Given the description of an element on the screen output the (x, y) to click on. 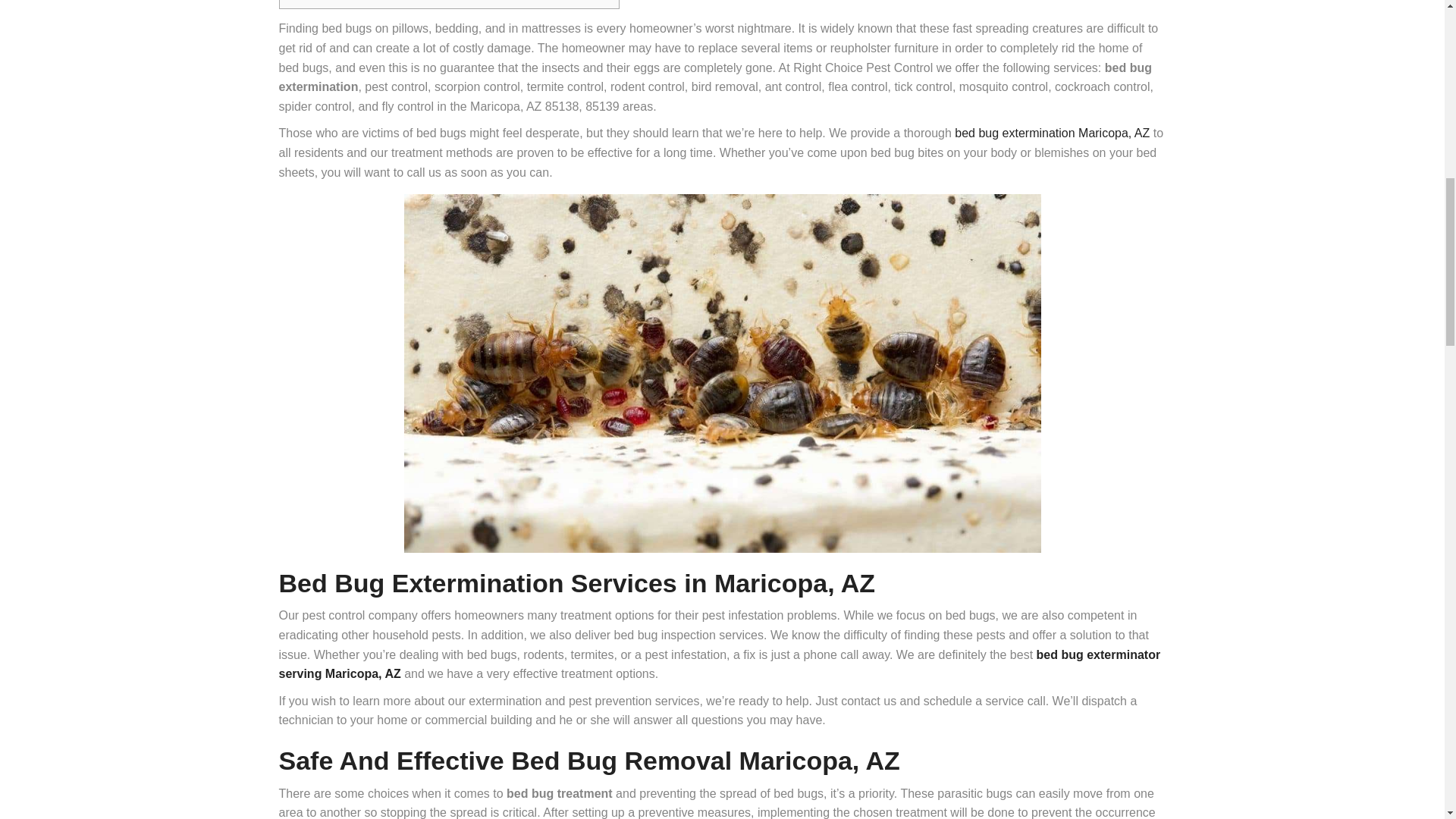
bed bug exterminator serving Maricopa, AZ (719, 664)
bed bug extermination Maricopa, AZ (1052, 132)
